Given the description of an element on the screen output the (x, y) to click on. 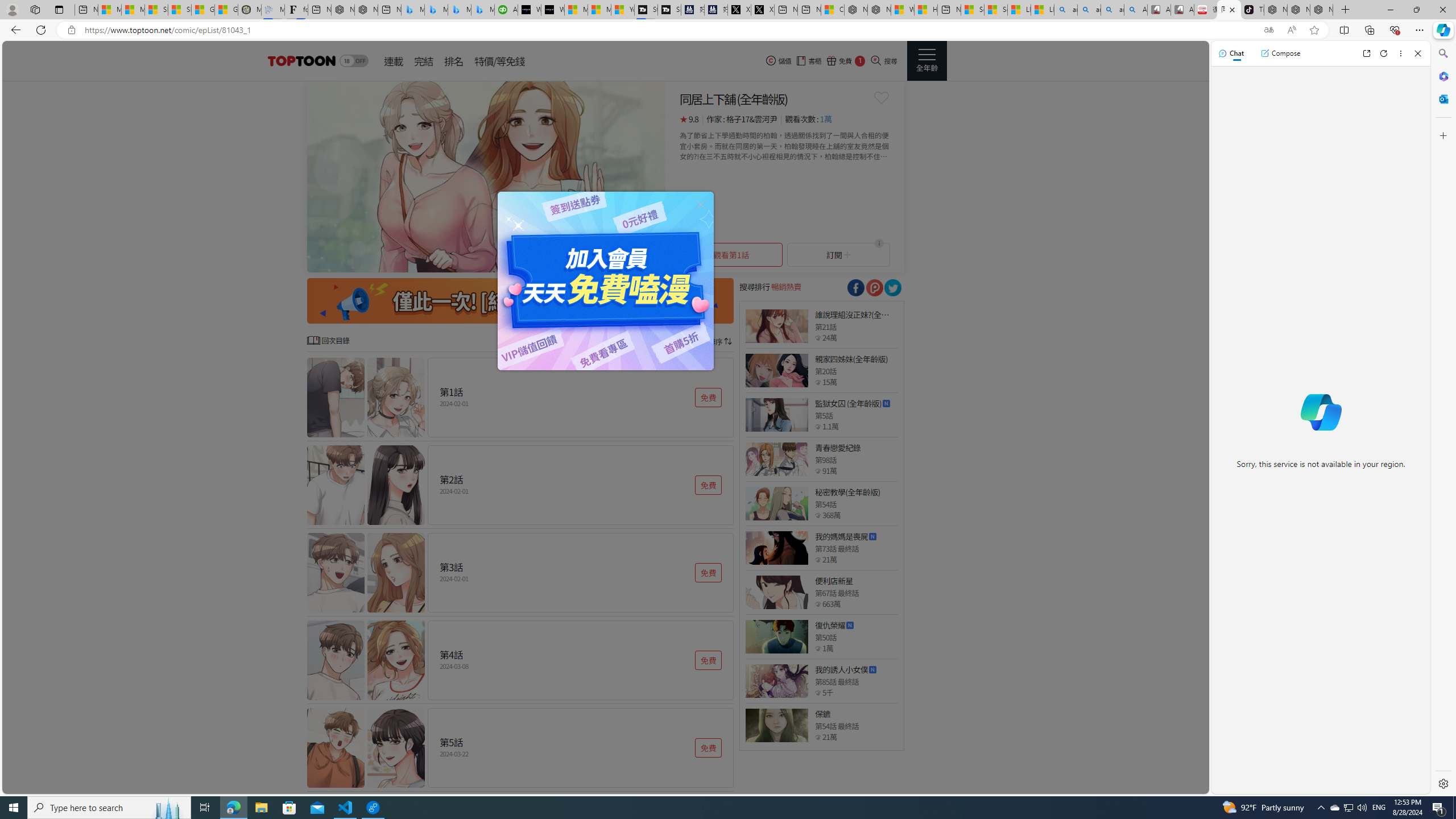
Chat (1231, 52)
Class: epicon_starpoint (818, 736)
Amazon Echo Robot - Search Images (1135, 9)
